Given the description of an element on the screen output the (x, y) to click on. 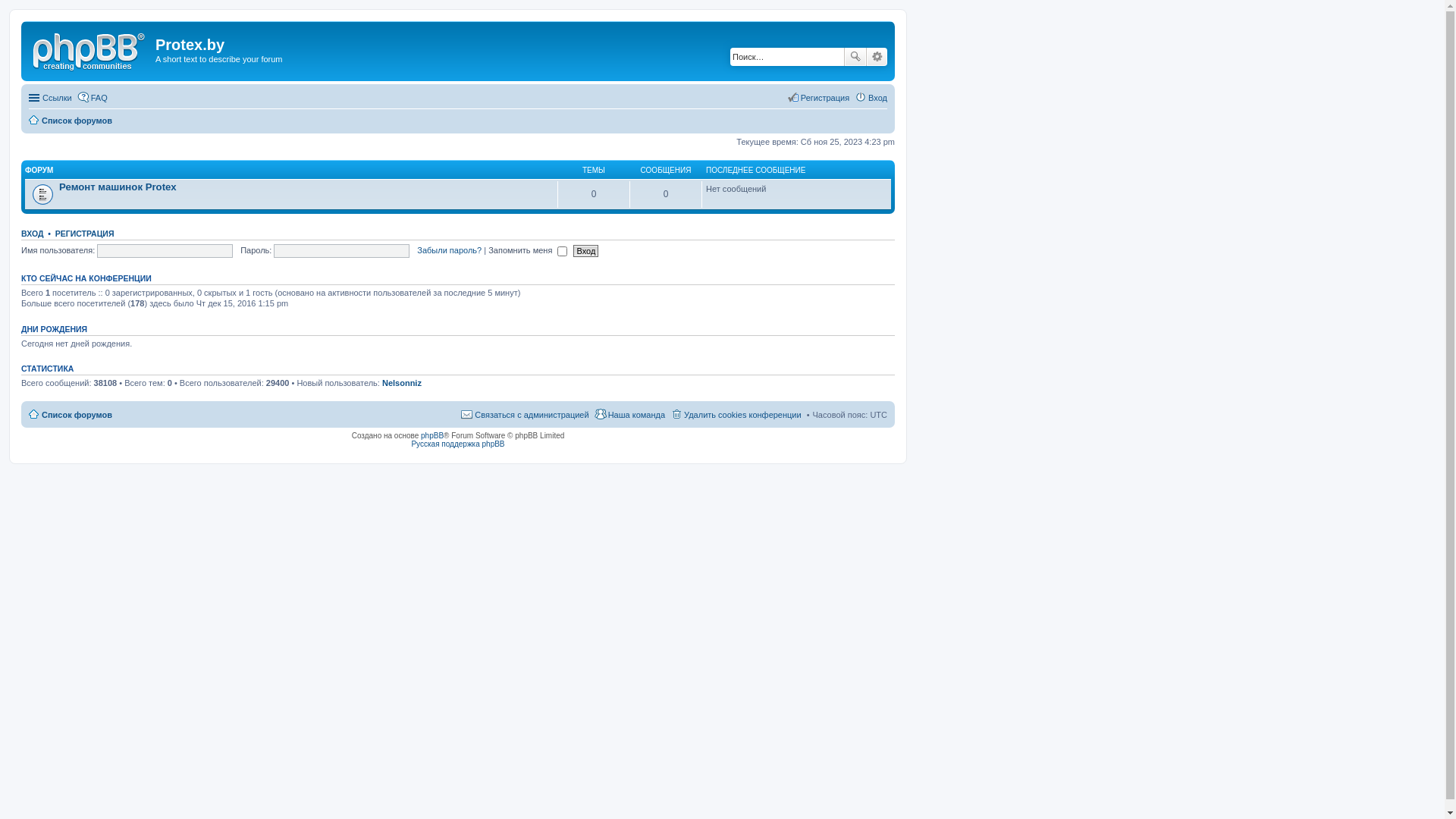
phpBB Element type: text (431, 435)
FAQ Element type: text (92, 97)
Nelsonniz Element type: text (401, 382)
